Given the description of an element on the screen output the (x, y) to click on. 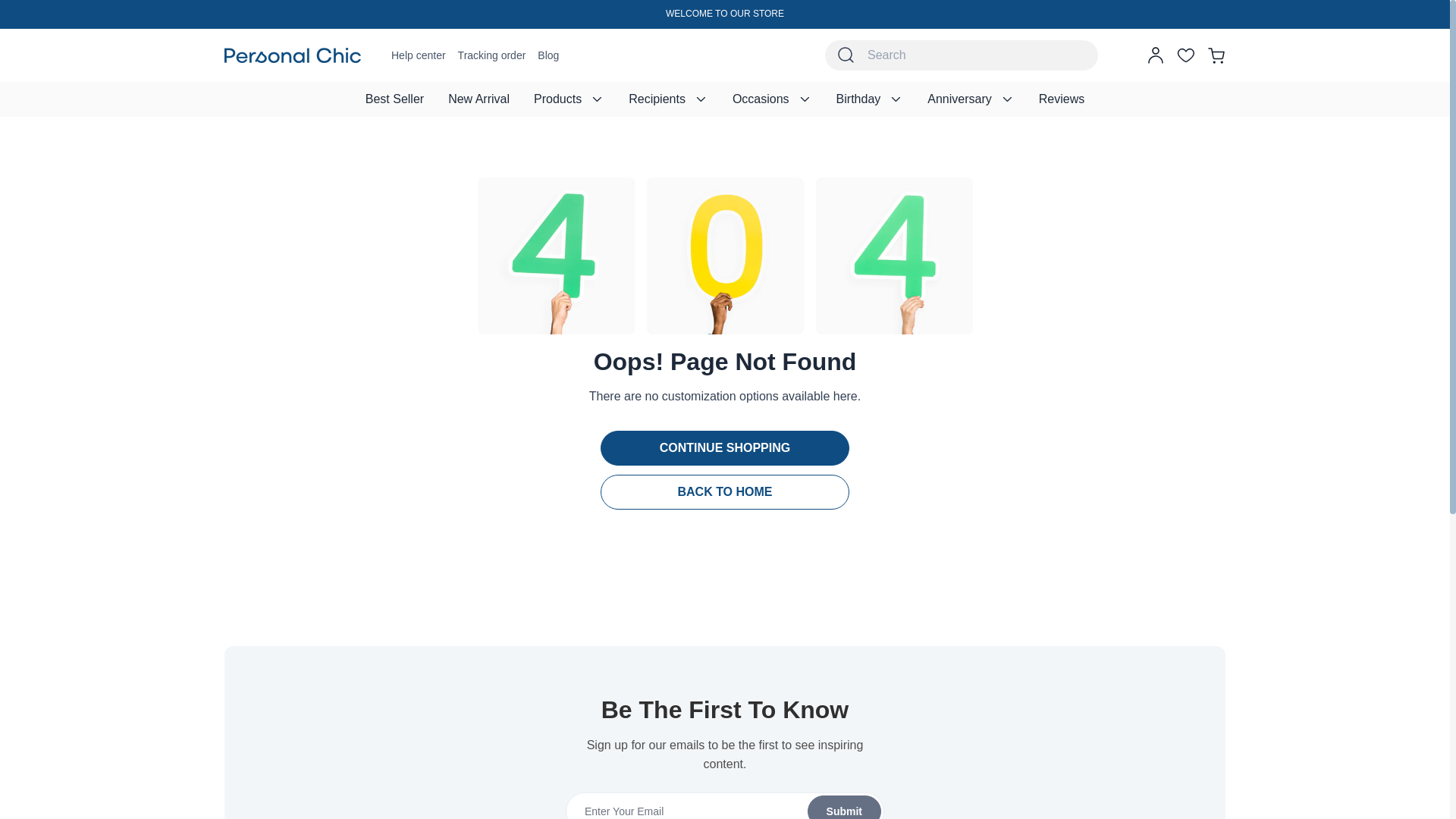
wishlist (1185, 54)
New Arrivals (478, 99)
Bestsellers (394, 99)
Submit (723, 805)
Blog (548, 55)
New Arrival (478, 99)
account (1155, 54)
Blog (548, 55)
Best Seller (394, 99)
cart (1216, 54)
